Given the description of an element on the screen output the (x, y) to click on. 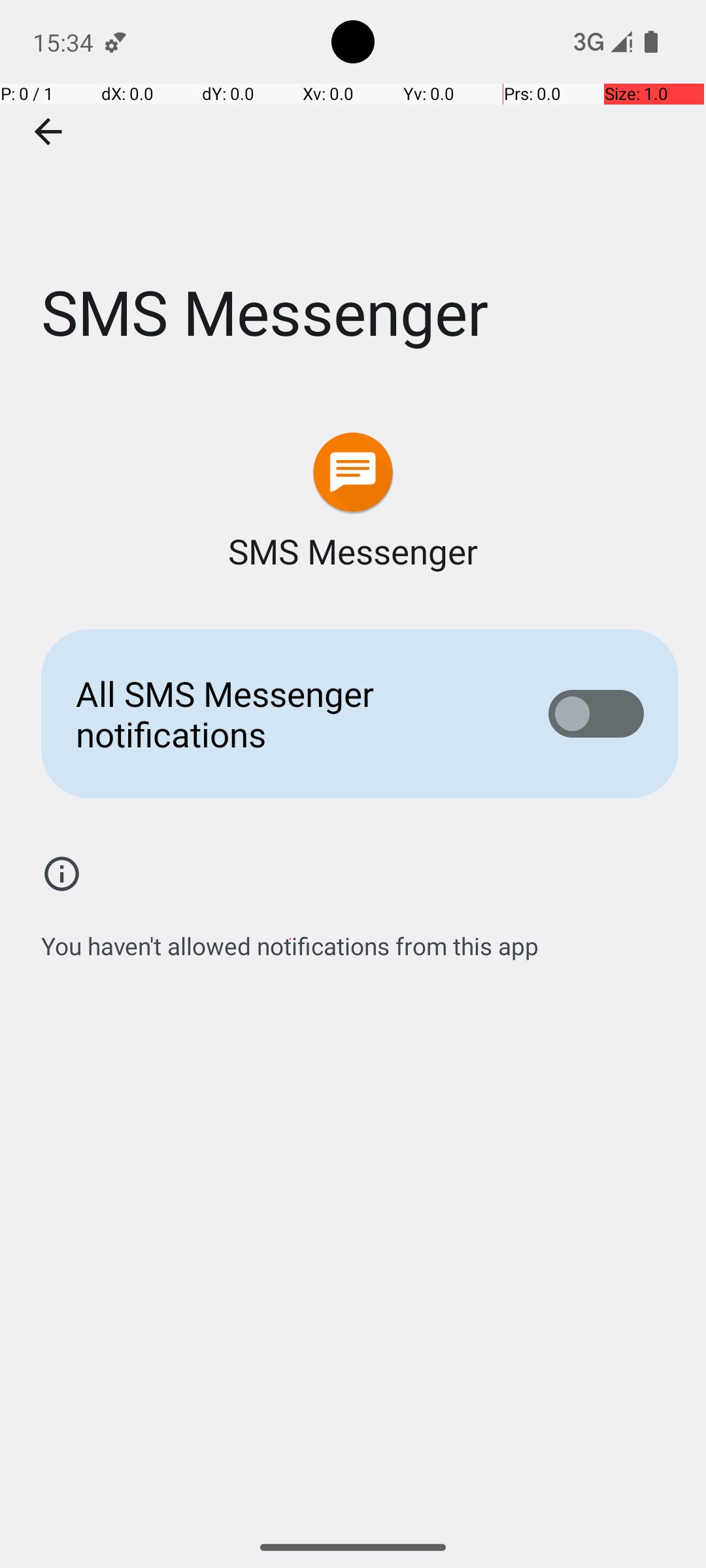
All SMS Messenger notifications Element type: android.widget.TextView (291, 713)
You haven't allowed notifications from this app Element type: android.widget.TextView (290, 938)
